Given the description of an element on the screen output the (x, y) to click on. 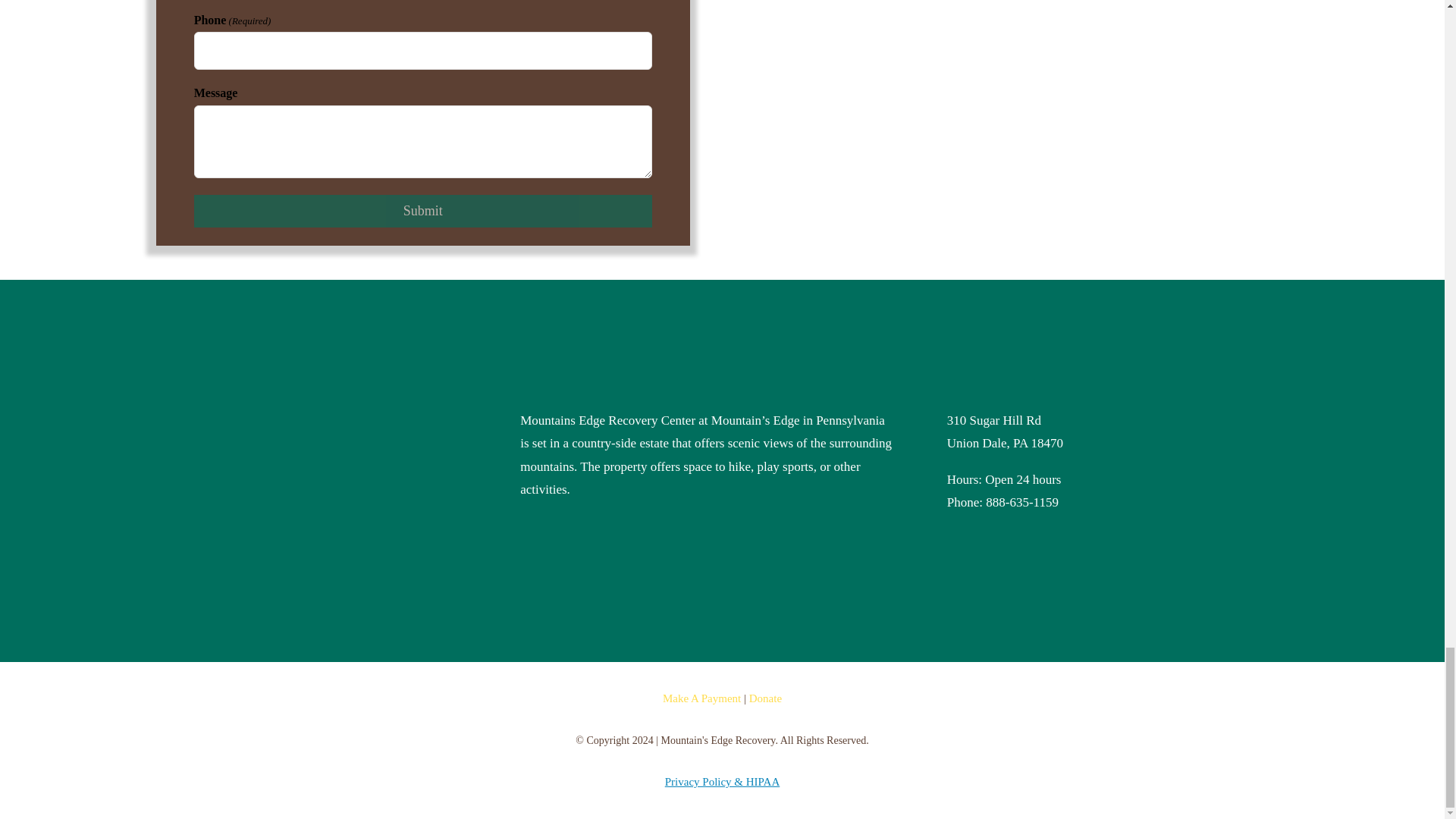
mts-edge-white (302, 455)
Submit (422, 210)
